Given the description of an element on the screen output the (x, y) to click on. 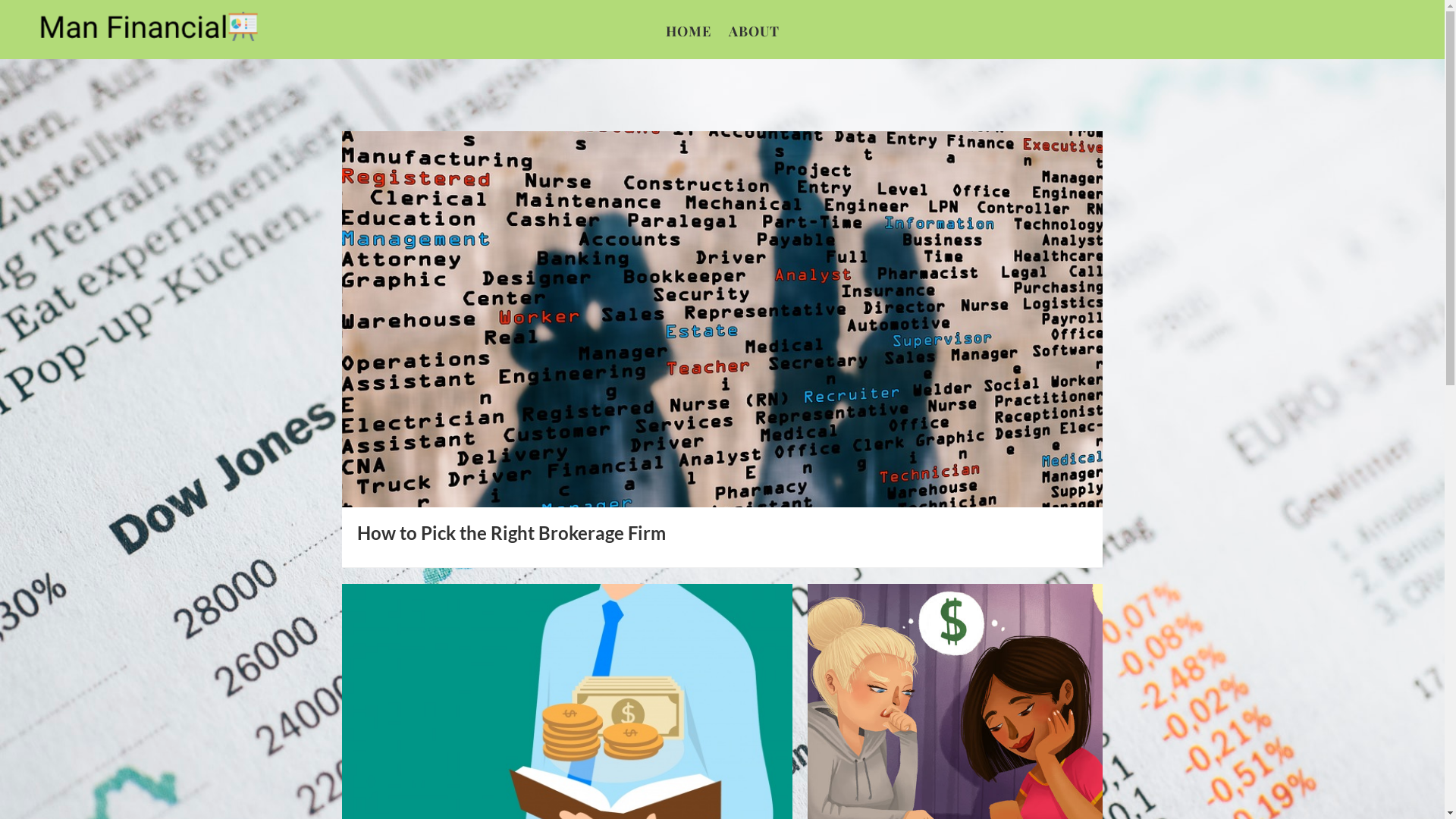
How to Pick the Right Brokerage Firm Element type: text (511, 532)
MANFINANCIAL.COM.AU Element type: text (143, 28)
HOME Element type: text (688, 30)
ABOUT Element type: text (753, 30)
Skip to primary navigation Element type: text (0, 0)
